Given the description of an element on the screen output the (x, y) to click on. 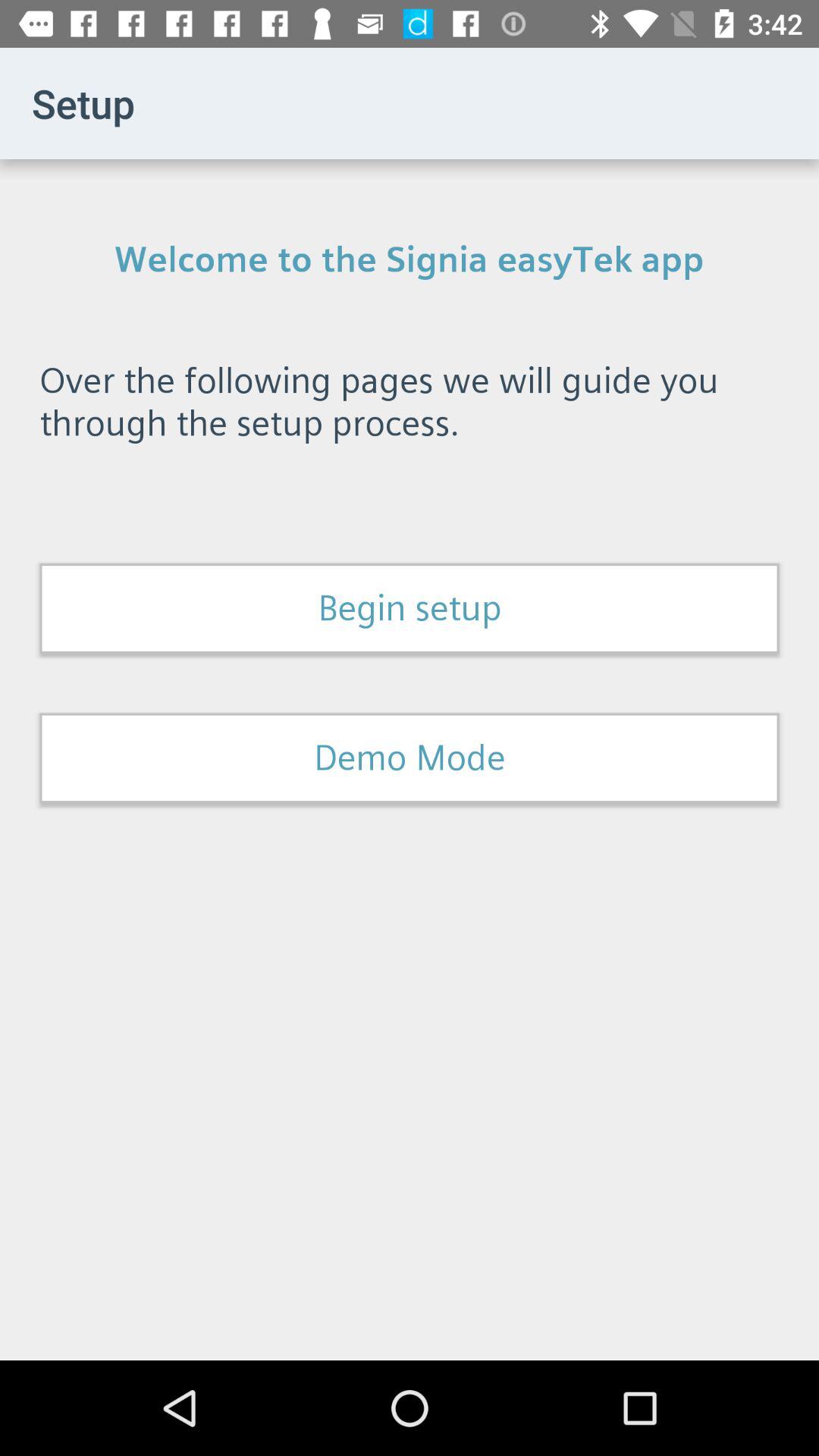
swipe until the begin setup item (409, 608)
